Given the description of an element on the screen output the (x, y) to click on. 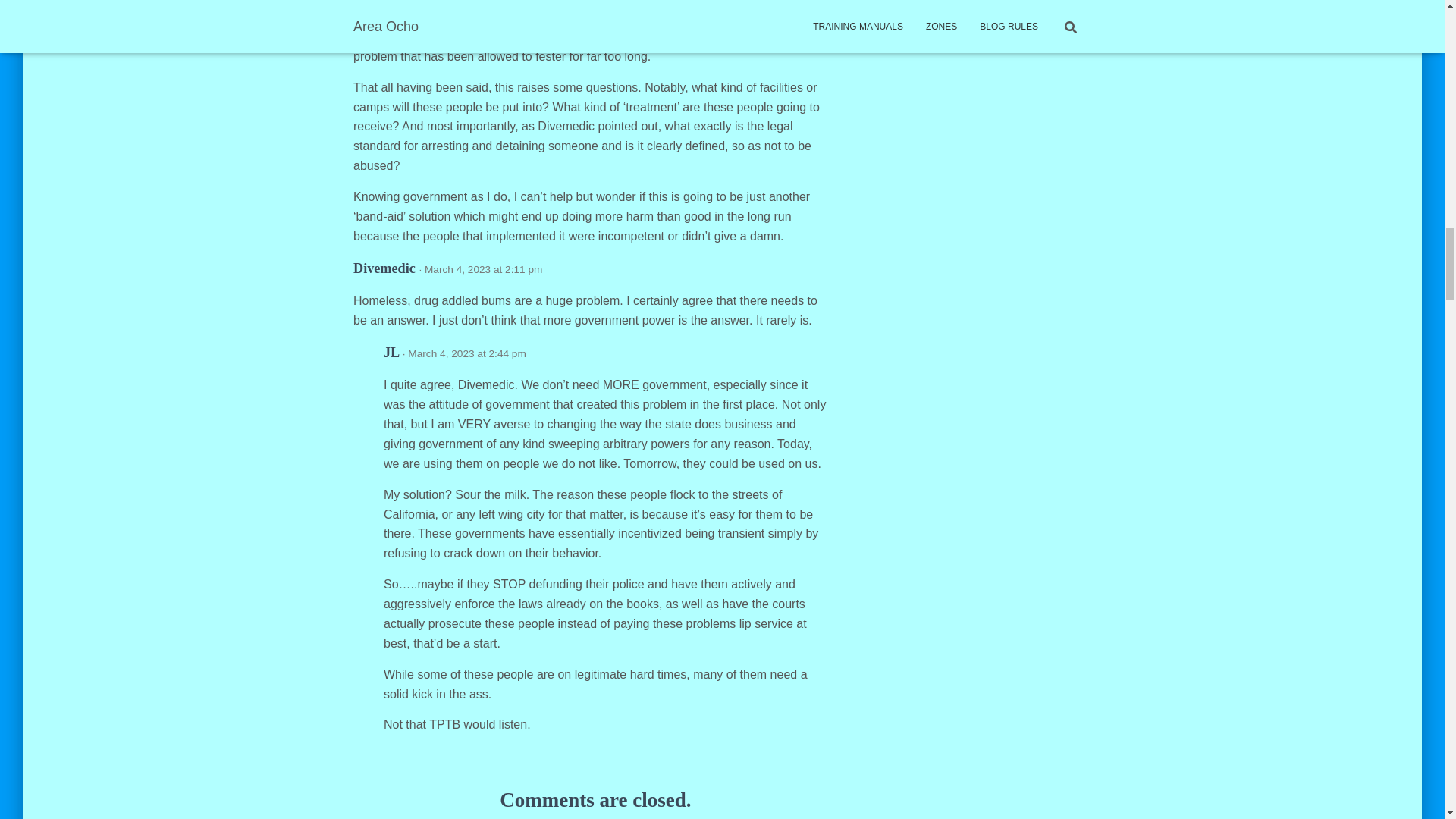
JL (391, 352)
